Given the description of an element on the screen output the (x, y) to click on. 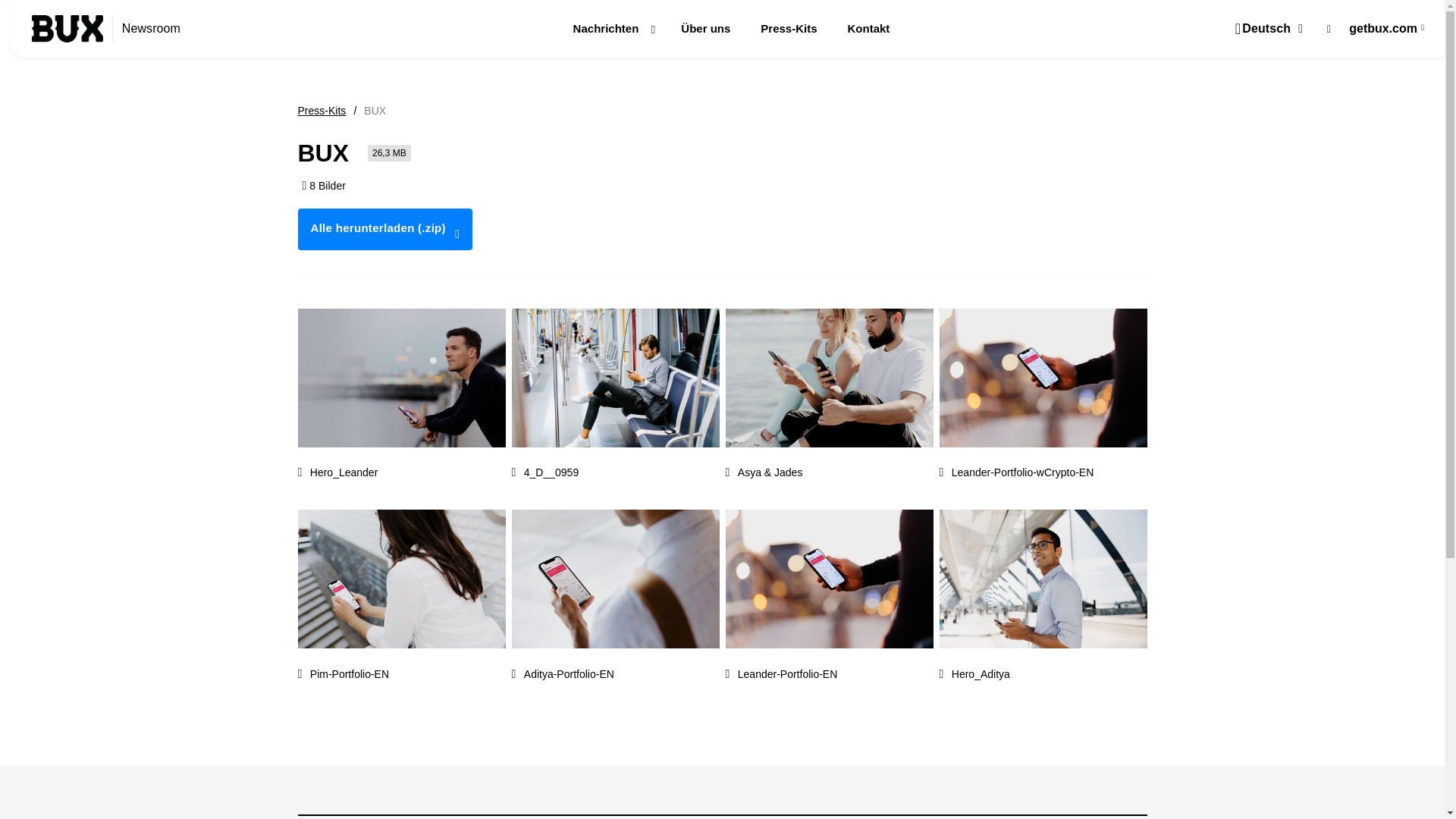
getbux.com (1390, 28)
Nachrichten (611, 39)
Deutsch (1275, 28)
Newsroom (164, 28)
Press-Kits (788, 28)
Kontakt (868, 28)
Press-Kits (321, 110)
